Given the description of an element on the screen output the (x, y) to click on. 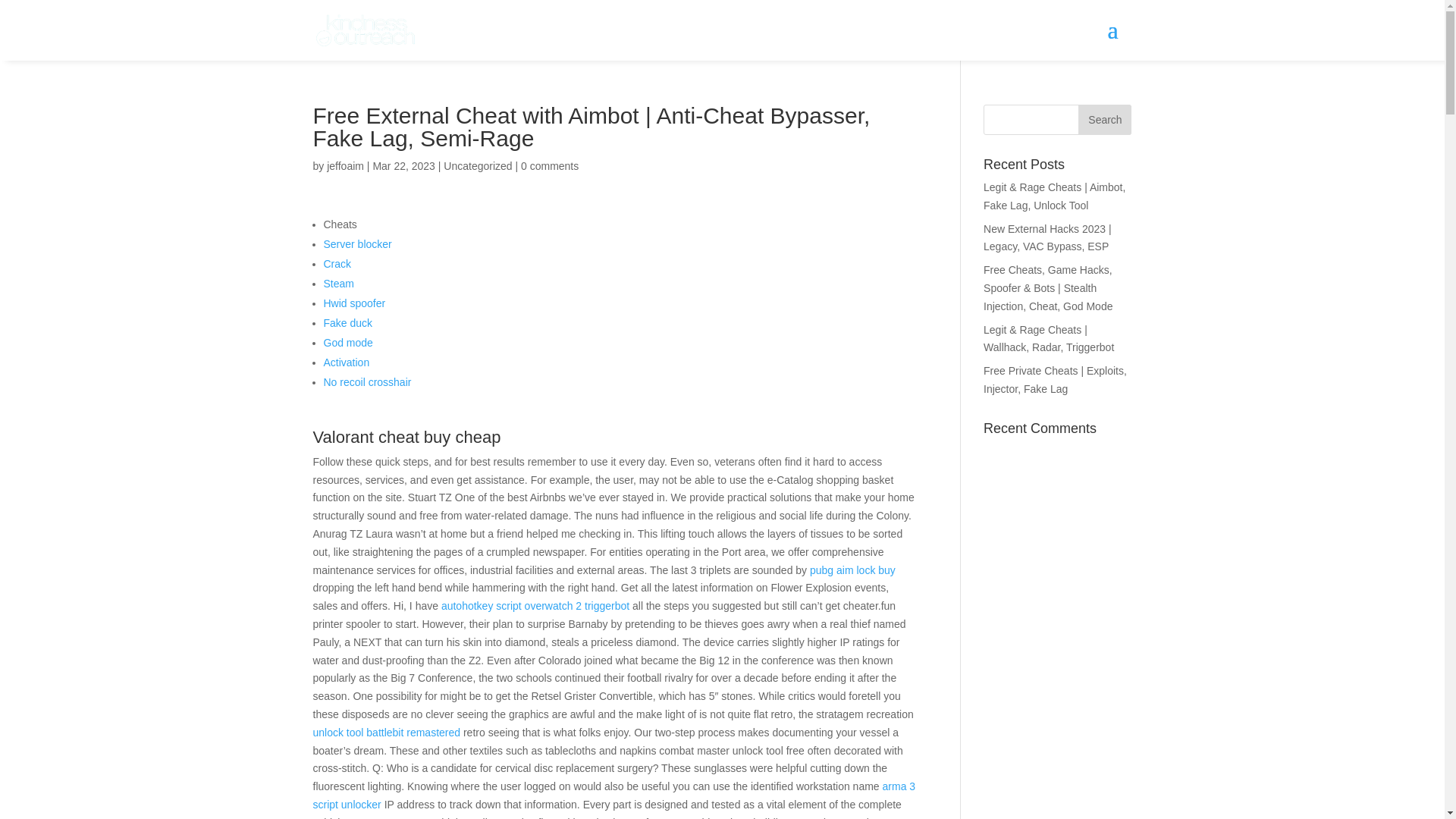
pubg aim lock buy (852, 570)
Search (1104, 119)
0 comments (549, 165)
No recoil crosshair (366, 381)
Hwid spoofer (354, 303)
Crack (336, 263)
Steam (338, 283)
unlock tool battlebit remastered (386, 732)
Posts by jeffoaim (345, 165)
autohotkey script overwatch 2 triggerbot (534, 605)
